Given the description of an element on the screen output the (x, y) to click on. 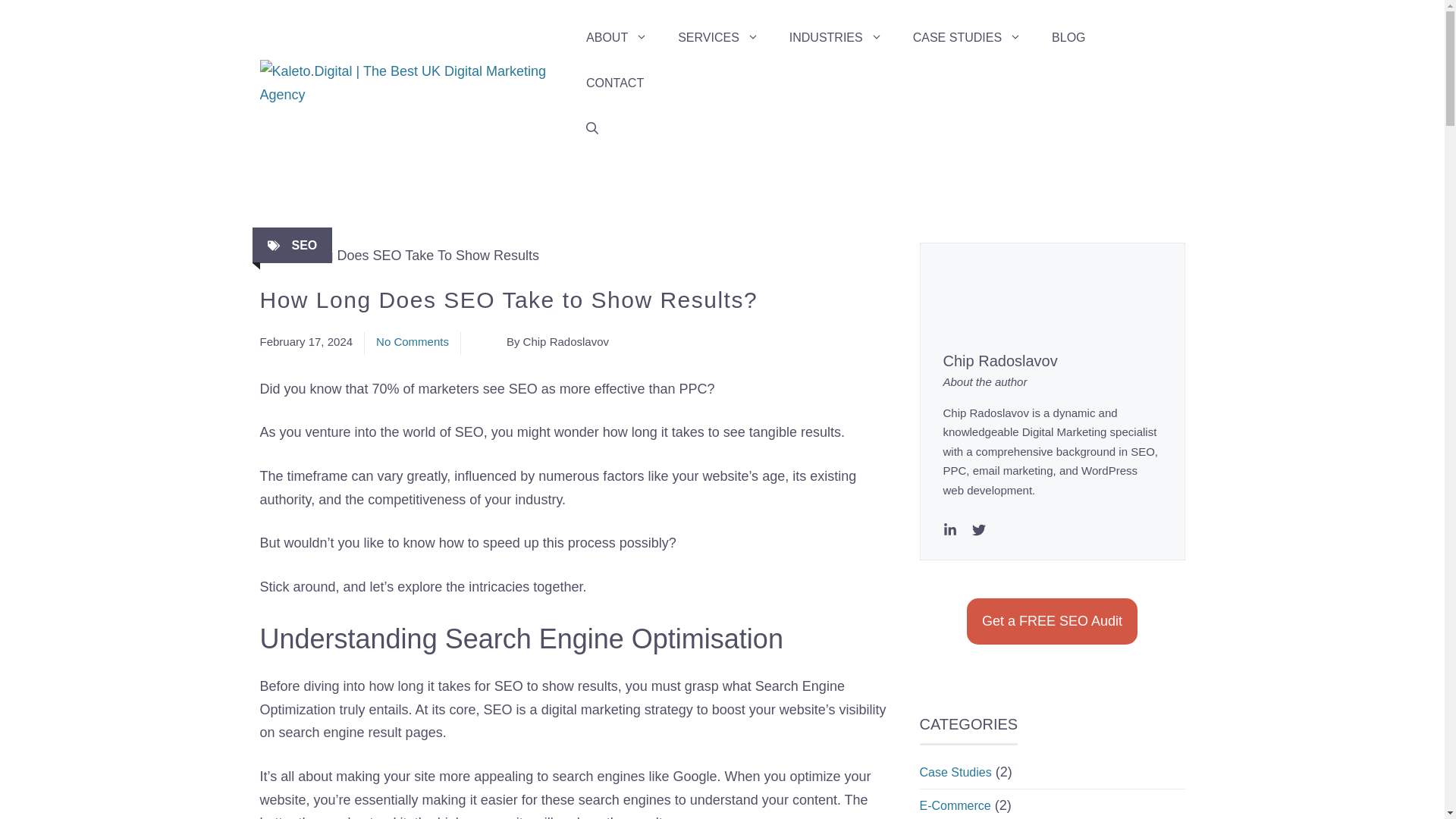
No Comments (411, 341)
CONTACT (614, 83)
SERVICES (718, 37)
INDUSTRIES (836, 37)
CASE STUDIES (967, 37)
BLOG (1068, 37)
SEO (304, 245)
ABOUT (616, 37)
